Given the description of an element on the screen output the (x, y) to click on. 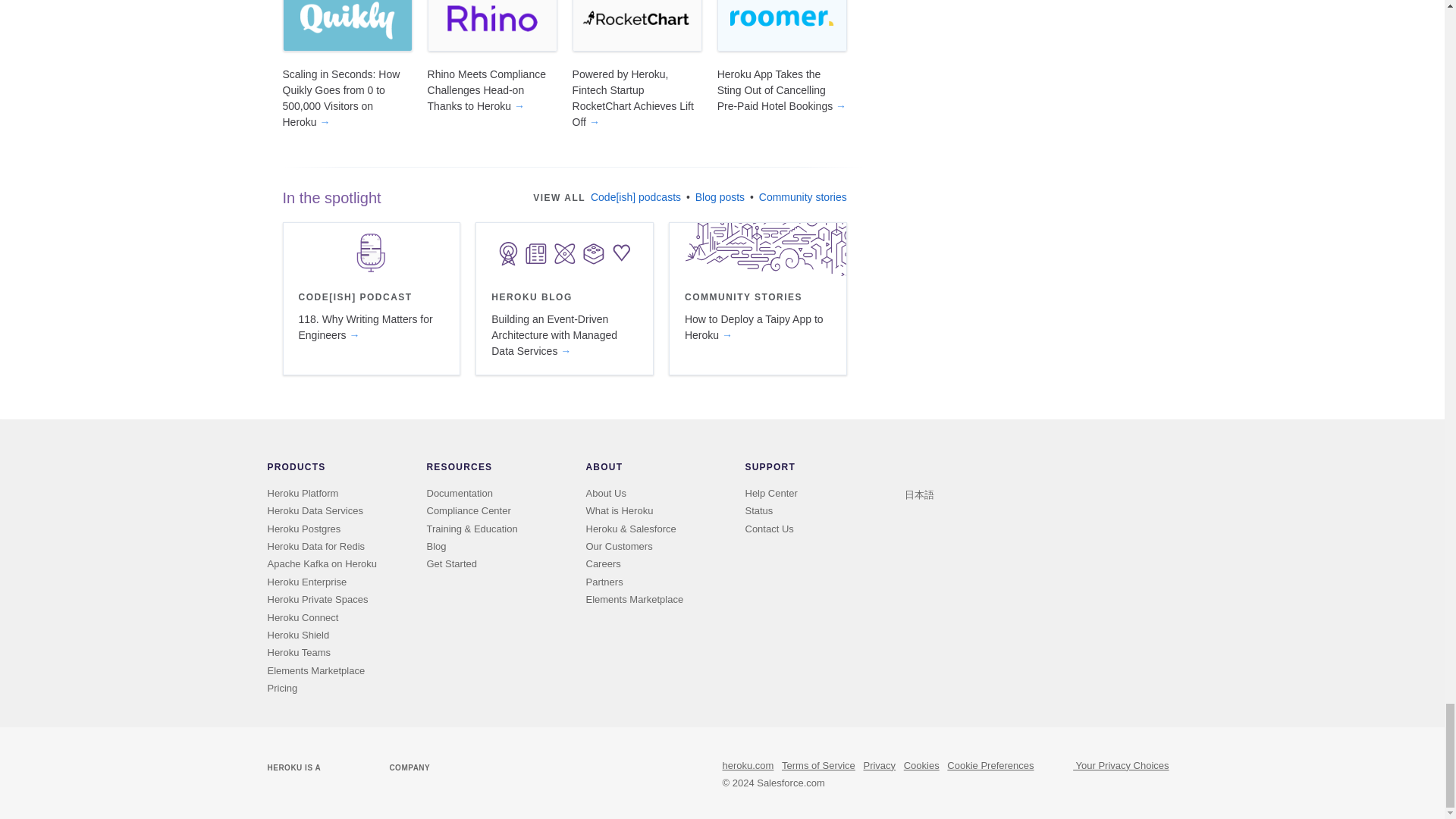
salesforce.com (347, 761)
Salesforce (354, 767)
Heroku's GitHub (957, 470)
Privacy Icon (1056, 772)
Heroku's LinkedIn (979, 470)
